Given the description of an element on the screen output the (x, y) to click on. 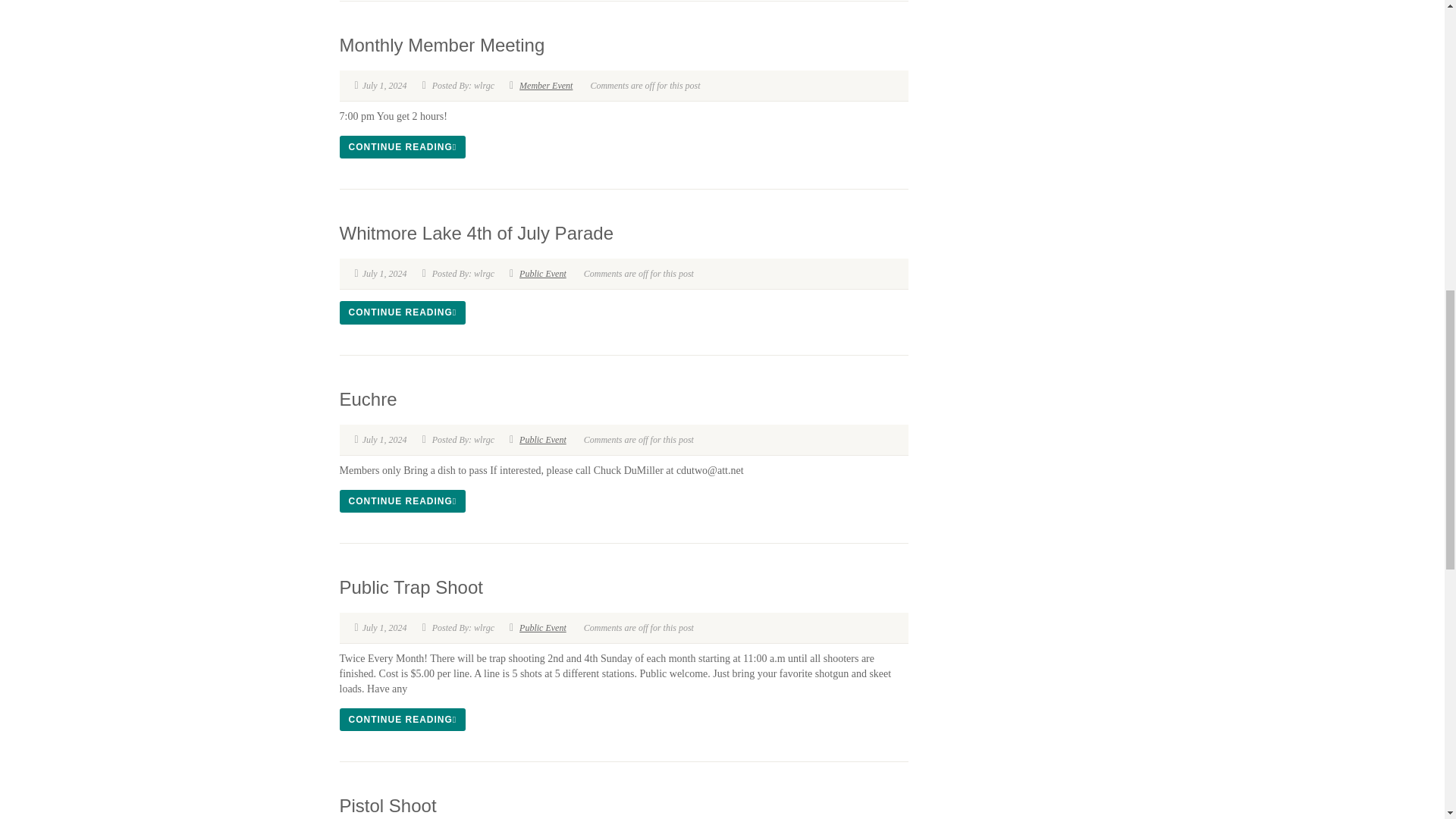
Public Event (542, 273)
CONTINUE READING (402, 312)
Member Event (545, 85)
Whitmore Lake 4th of July Parade (476, 232)
Monthly Member Meeting (441, 45)
CONTINUE READING (402, 146)
